Given the description of an element on the screen output the (x, y) to click on. 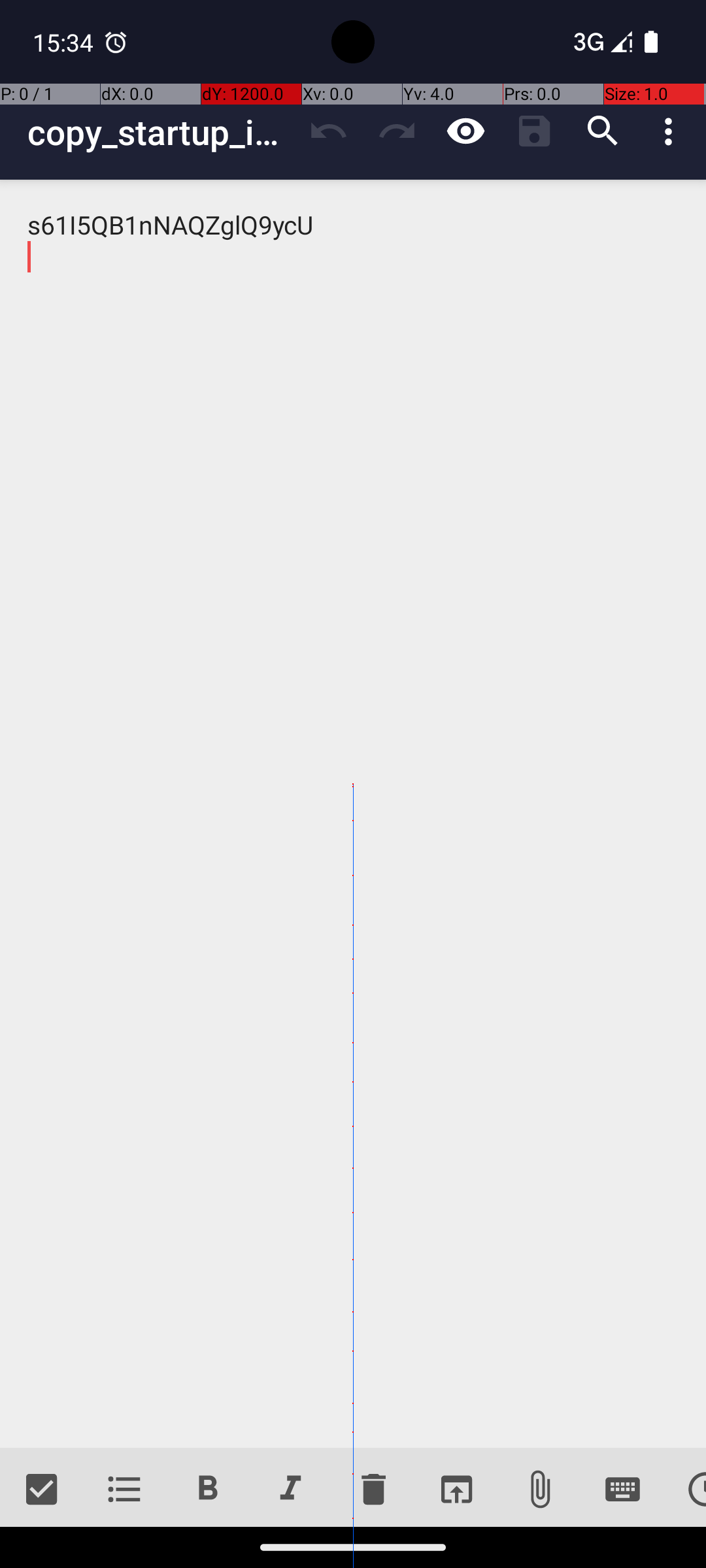
copy_startup_ideas_launch Element type: android.widget.TextView (160, 131)
s61I5QB1nNAQZglQ9ycU
 Element type: android.widget.EditText (353, 813)
